Given the description of an element on the screen output the (x, y) to click on. 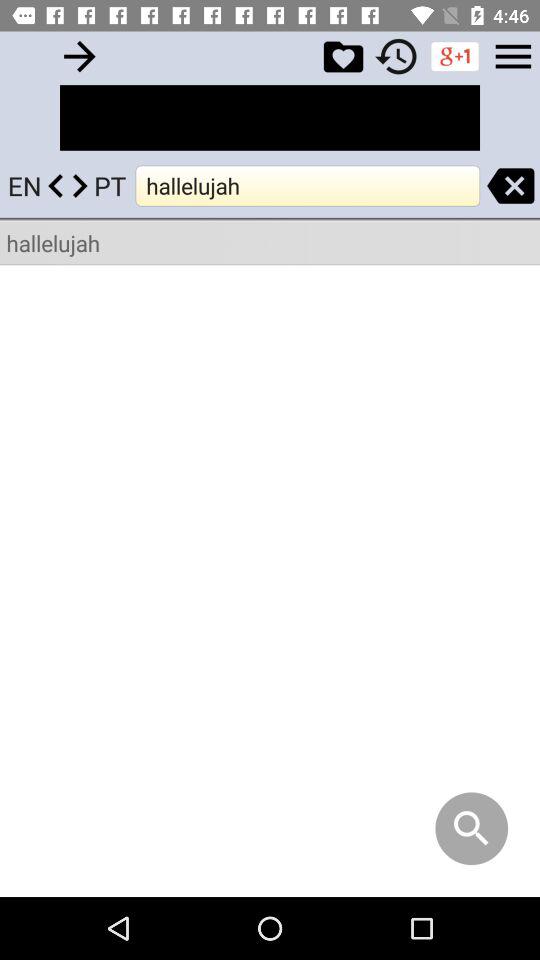
go back (79, 56)
